Given the description of an element on the screen output the (x, y) to click on. 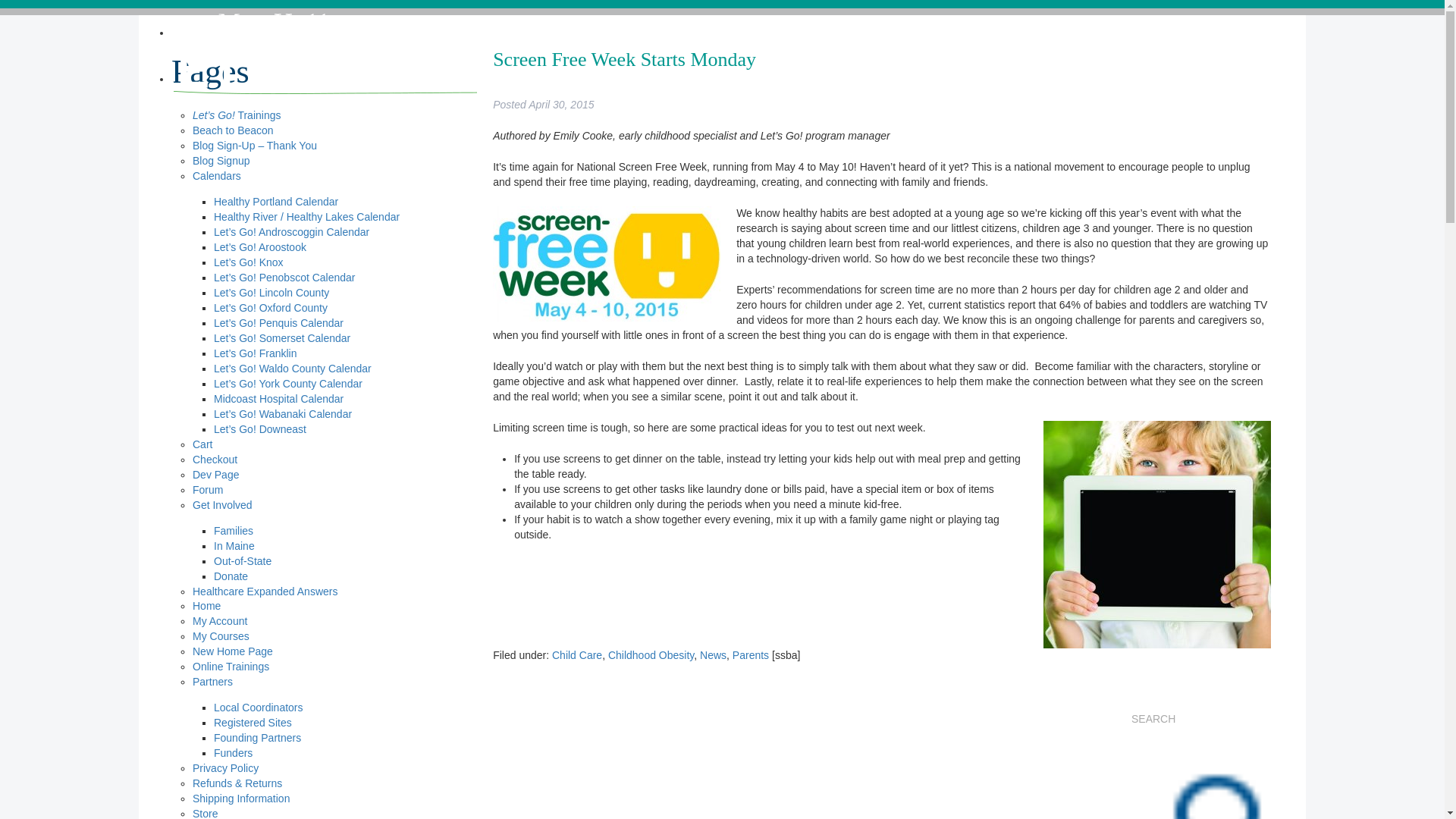
Midcoast Hospital Calendar (278, 398)
My Account (219, 621)
My Courses (220, 635)
Calendars (216, 175)
Healthcare Expanded Answers (264, 591)
Search (1210, 779)
Checkout (214, 459)
In Maine (234, 545)
New Home Page (232, 651)
Families (233, 530)
Childhood Obesity (651, 654)
News (713, 654)
Home (206, 605)
Parents (750, 654)
Out-of-State (242, 561)
